Given the description of an element on the screen output the (x, y) to click on. 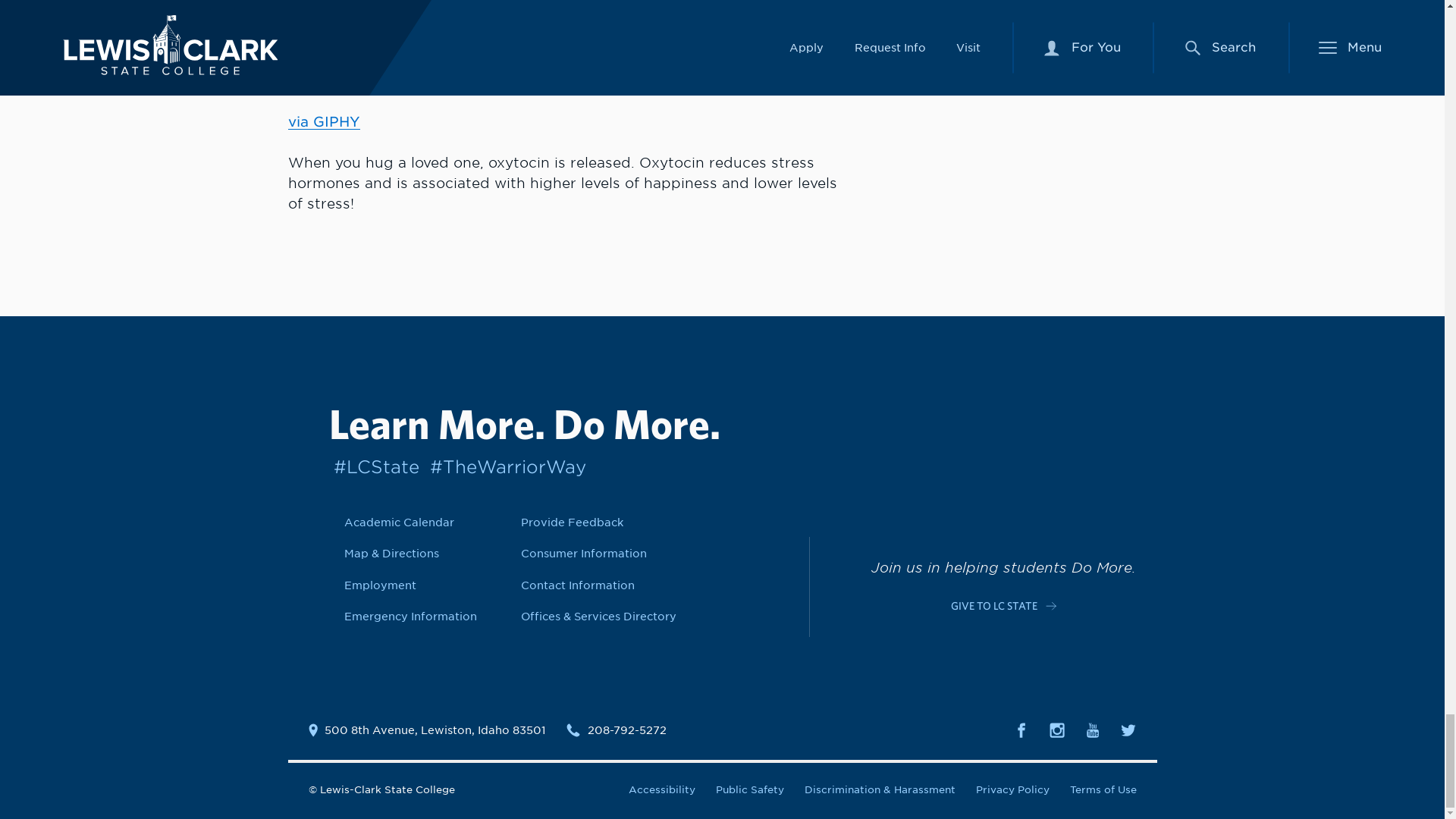
ARROW-RIGHT--LINE (1051, 605)
twitter--solid (1128, 729)
instagram--solid (1056, 729)
running in for a hug (470, 35)
calls--solid (572, 730)
youtube--solid (1092, 729)
facebook--solid (1020, 729)
